Given the description of an element on the screen output the (x, y) to click on. 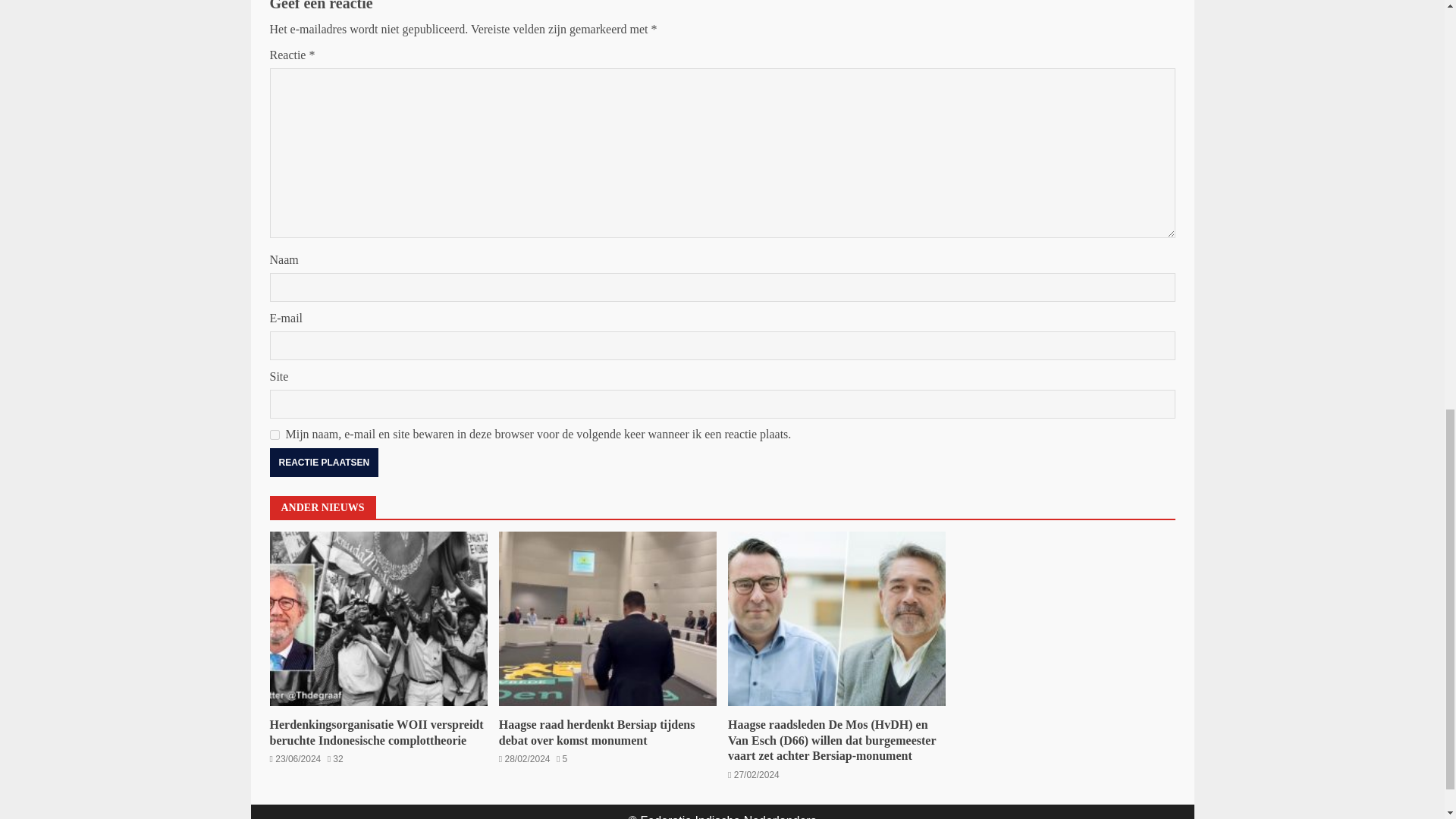
Reactie plaatsen (323, 461)
yes (274, 434)
